Given the description of an element on the screen output the (x, y) to click on. 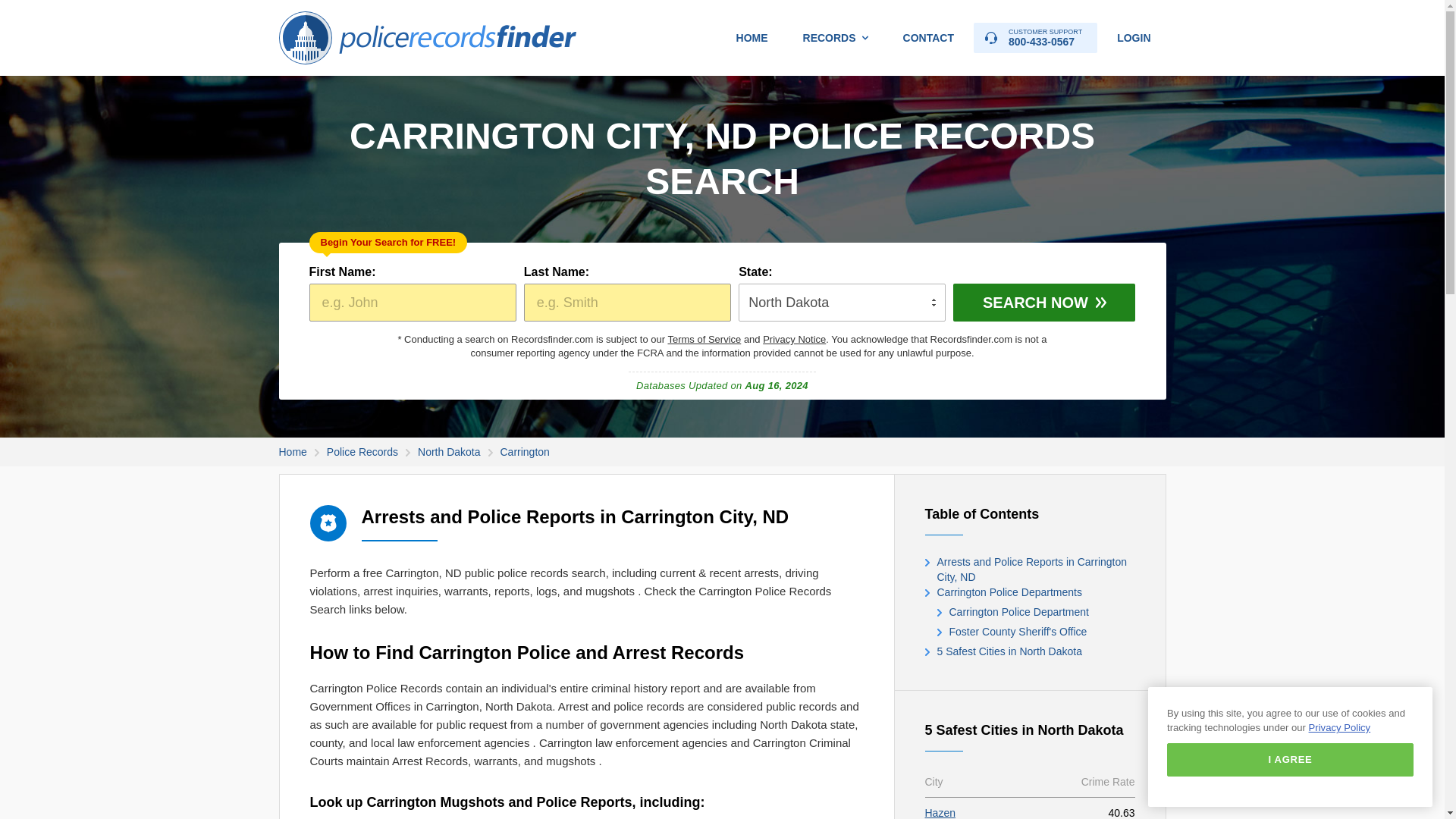
RECORDS (835, 37)
HOME (751, 37)
CONTACT (1035, 37)
